Given the description of an element on the screen output the (x, y) to click on. 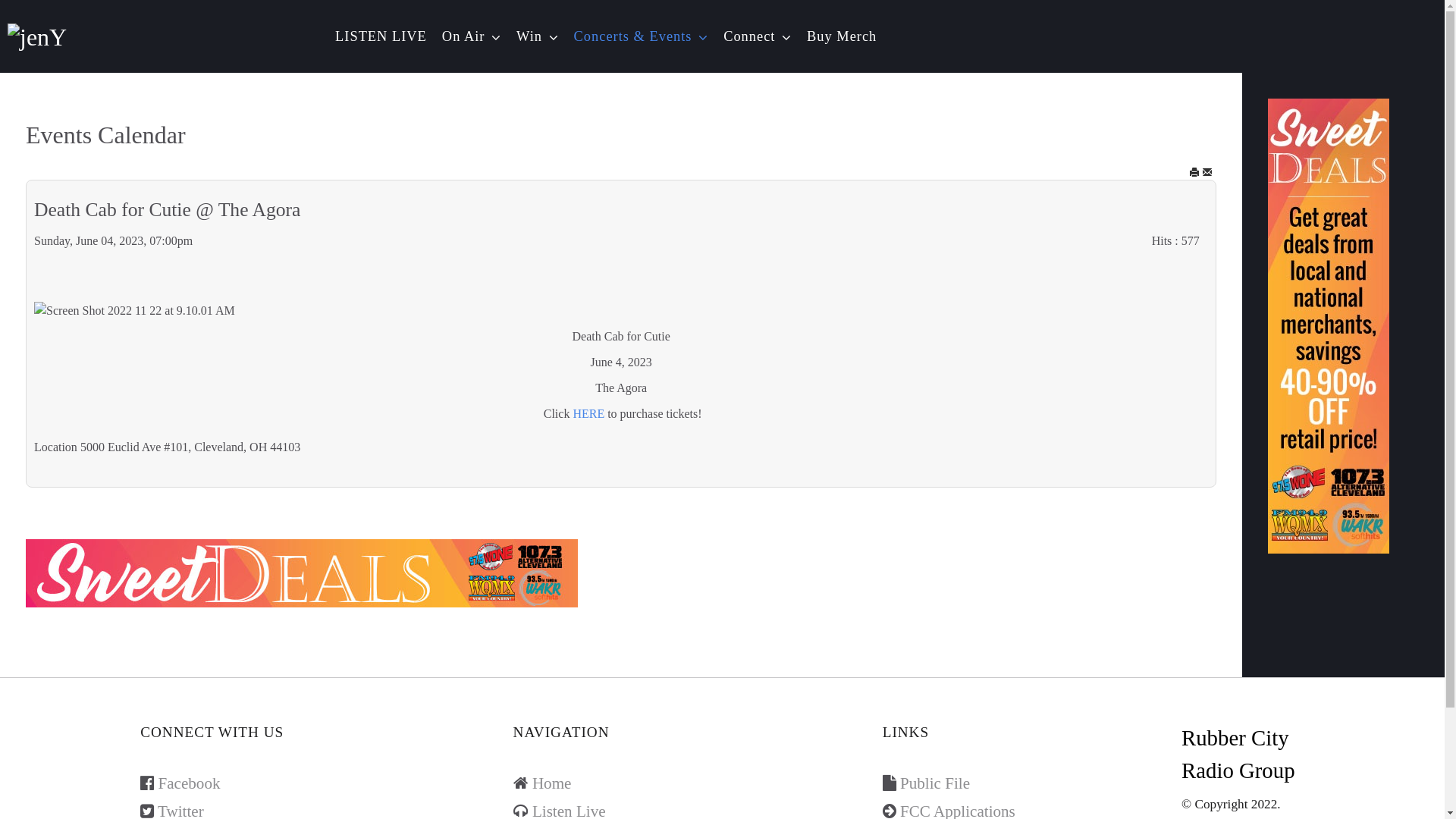
EMAIL Element type: hover (1206, 172)
HERE Element type: text (588, 413)
jenY Element type: hover (36, 34)
Print Element type: hover (1194, 172)
On Air Element type: text (471, 36)
Public File Element type: text (934, 783)
Home Element type: text (551, 783)
Connect Element type: text (757, 36)
Win Element type: text (537, 36)
Concerts & Events Element type: text (641, 36)
LISTEN LIVE Element type: text (381, 36)
Facebook Element type: text (188, 783)
Buy Merch Element type: text (841, 36)
